Given the description of an element on the screen output the (x, y) to click on. 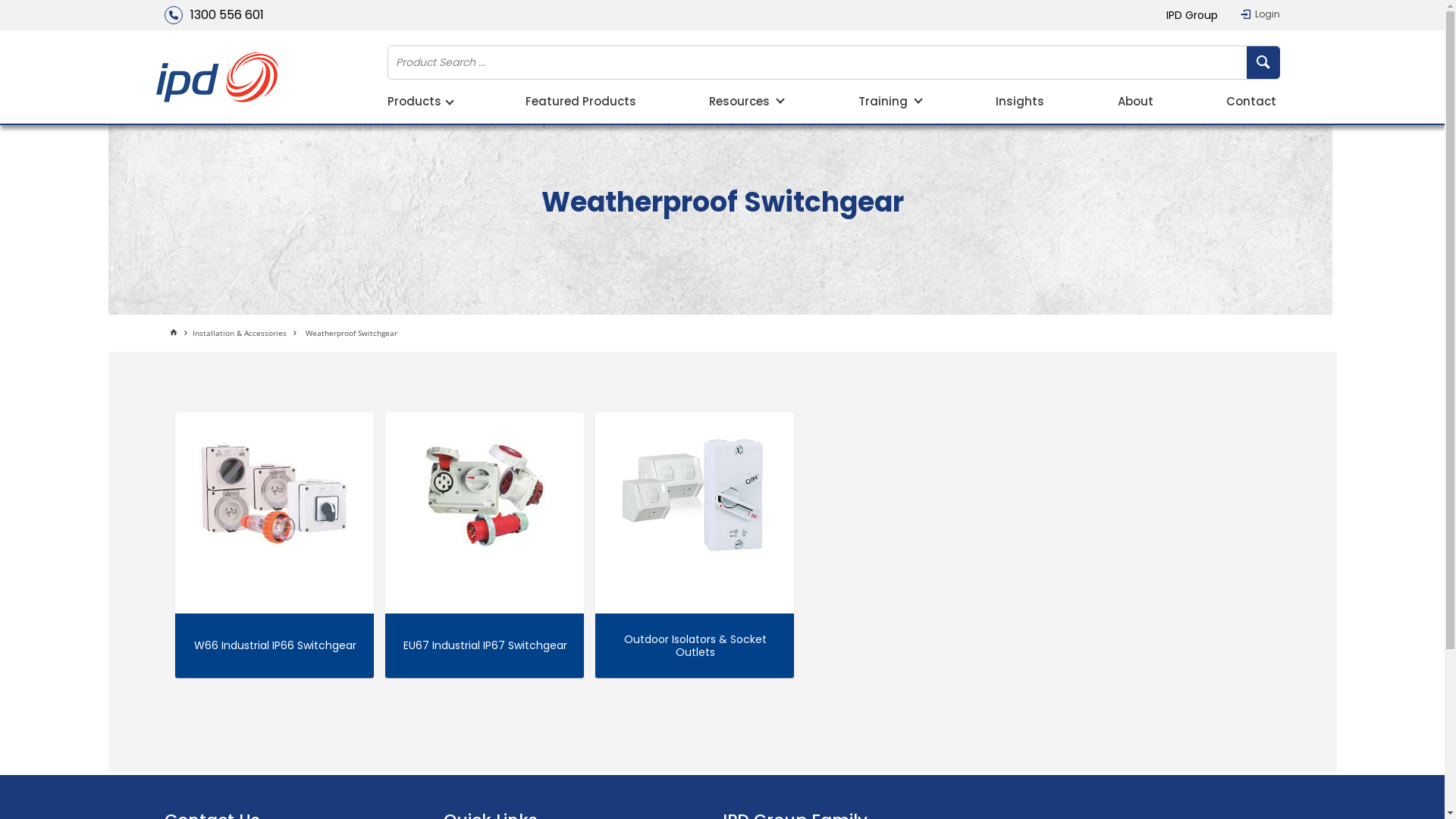
Outdoor Isolators & Socket Outlets Element type: text (695, 645)
Training Element type: text (890, 102)
W66 Industrial IP66 Switchgear Element type: hover (273, 495)
Featured Products Element type: text (580, 102)
Insights Element type: text (1019, 102)
Login Element type: text (1260, 13)
Contact Element type: text (1251, 102)
Outdoor Isolators & Socket Outlets Element type: hover (693, 495)
IPD Group Element type: text (1191, 14)
1300 556 601 Element type: text (213, 15)
EU67 Industrial IP67 Switchgear Element type: hover (483, 495)
Installation & Accessories Element type: text (246, 333)
Resources Element type: text (746, 102)
EU67 Industrial IP67 Switchgear Element type: text (485, 645)
About Element type: text (1135, 102)
W66 Industrial IP66 Switchgear Element type: text (275, 645)
